Given the description of an element on the screen output the (x, y) to click on. 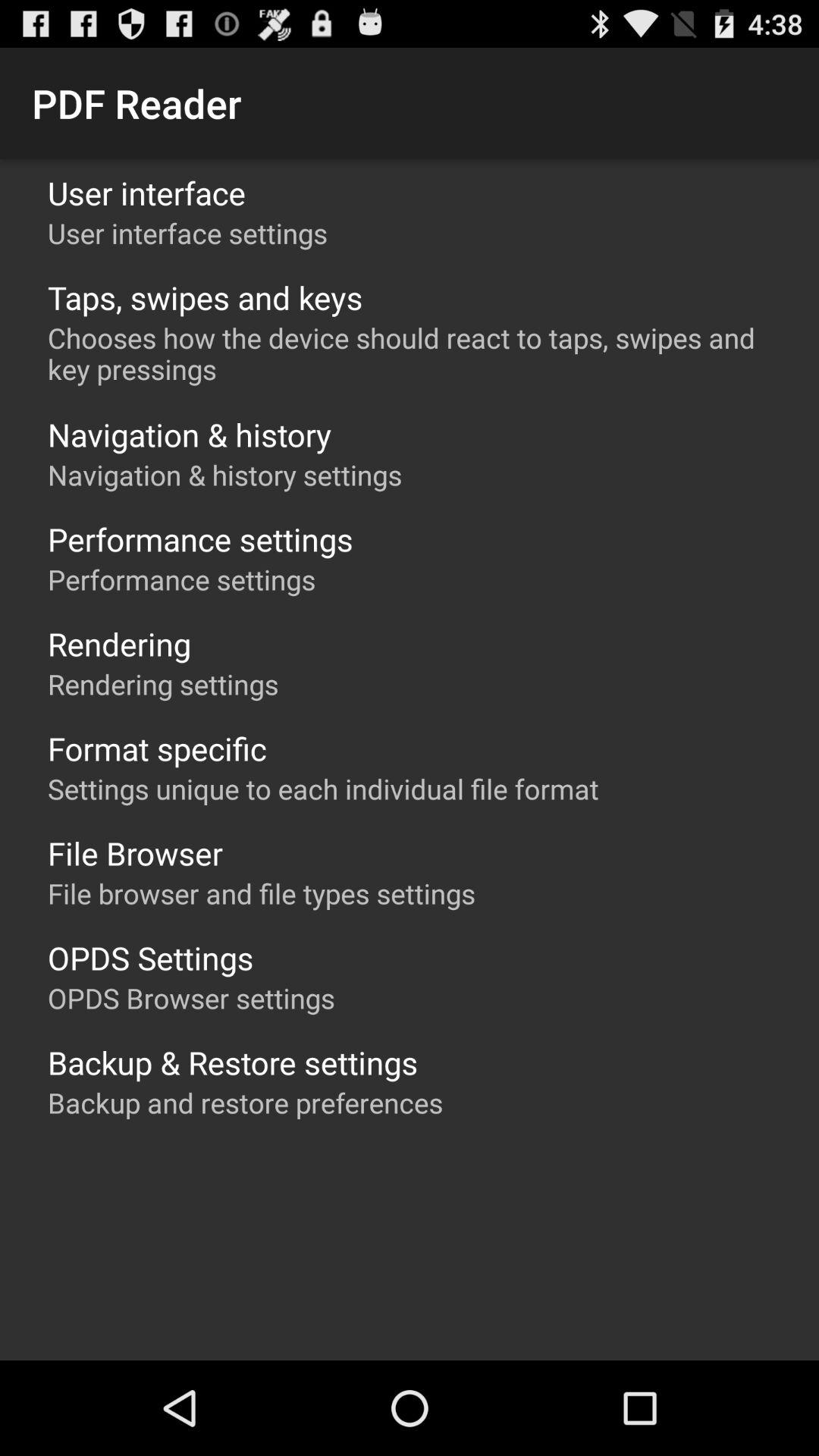
press the app above navigation & history (417, 354)
